Given the description of an element on the screen output the (x, y) to click on. 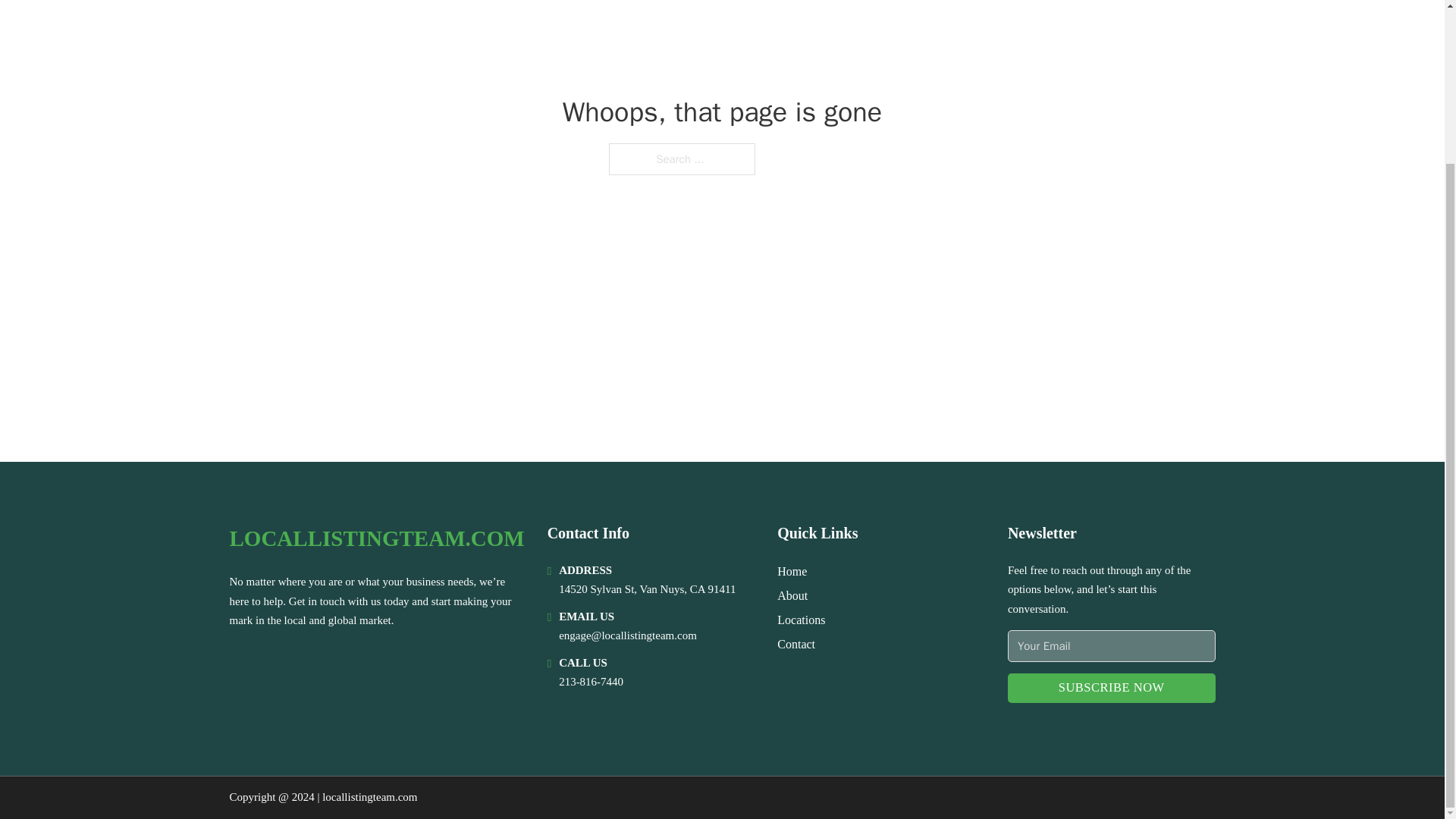
Contact (796, 643)
SUBSCRIBE NOW (1111, 687)
Home (791, 571)
213-816-7440 (591, 681)
Locations (801, 619)
LOCALLISTINGTEAM.COM (376, 538)
About (792, 595)
